Given the description of an element on the screen output the (x, y) to click on. 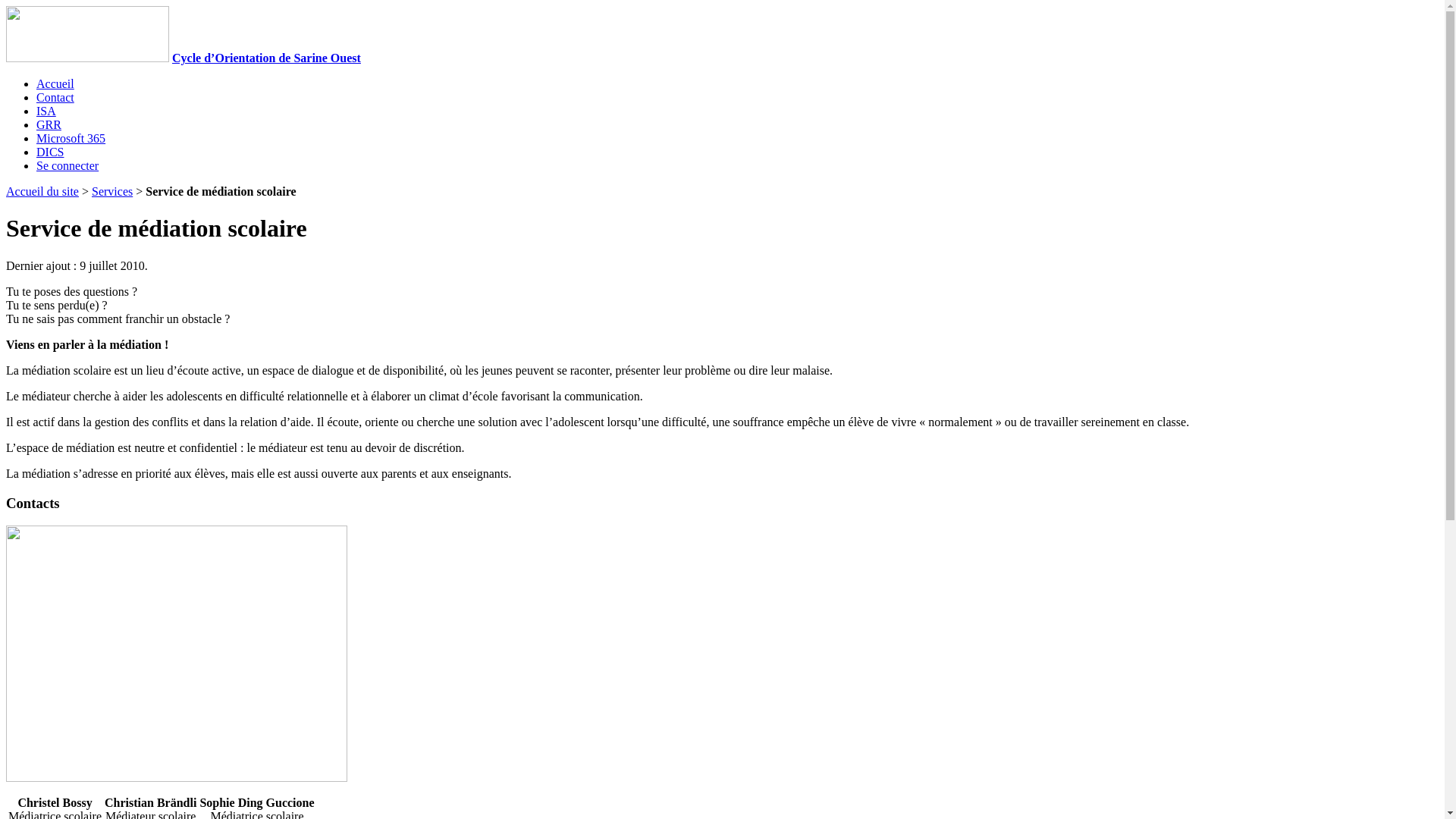
Microsoft 365 Element type: text (70, 137)
Services Element type: text (111, 191)
Contact Element type: text (55, 97)
GRR Element type: text (48, 124)
ISA Element type: text (46, 110)
Accueil du site Element type: hover (87, 57)
Accueil du site Element type: text (42, 191)
Accueil Element type: text (55, 83)
Se connecter Element type: text (67, 165)
DICS Element type: text (49, 151)
